Given the description of an element on the screen output the (x, y) to click on. 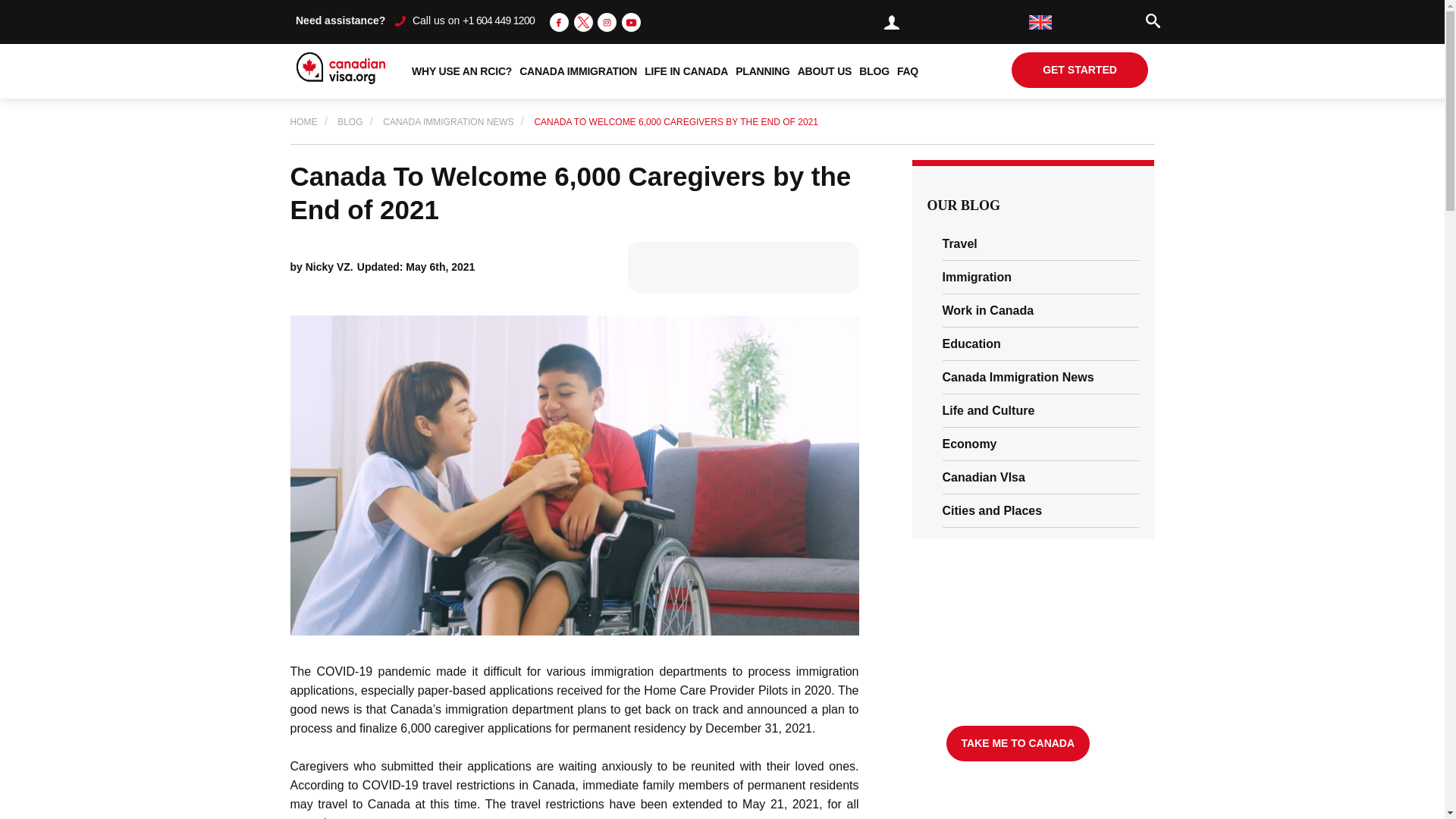
instagram (605, 21)
twitter (582, 22)
phone (400, 20)
youtube (630, 22)
Login to your account (946, 21)
youtube (630, 21)
Need assistance? (340, 20)
WHY USE AN RCIC? (461, 71)
profile (891, 22)
Need assistance? (340, 20)
